Given the description of an element on the screen output the (x, y) to click on. 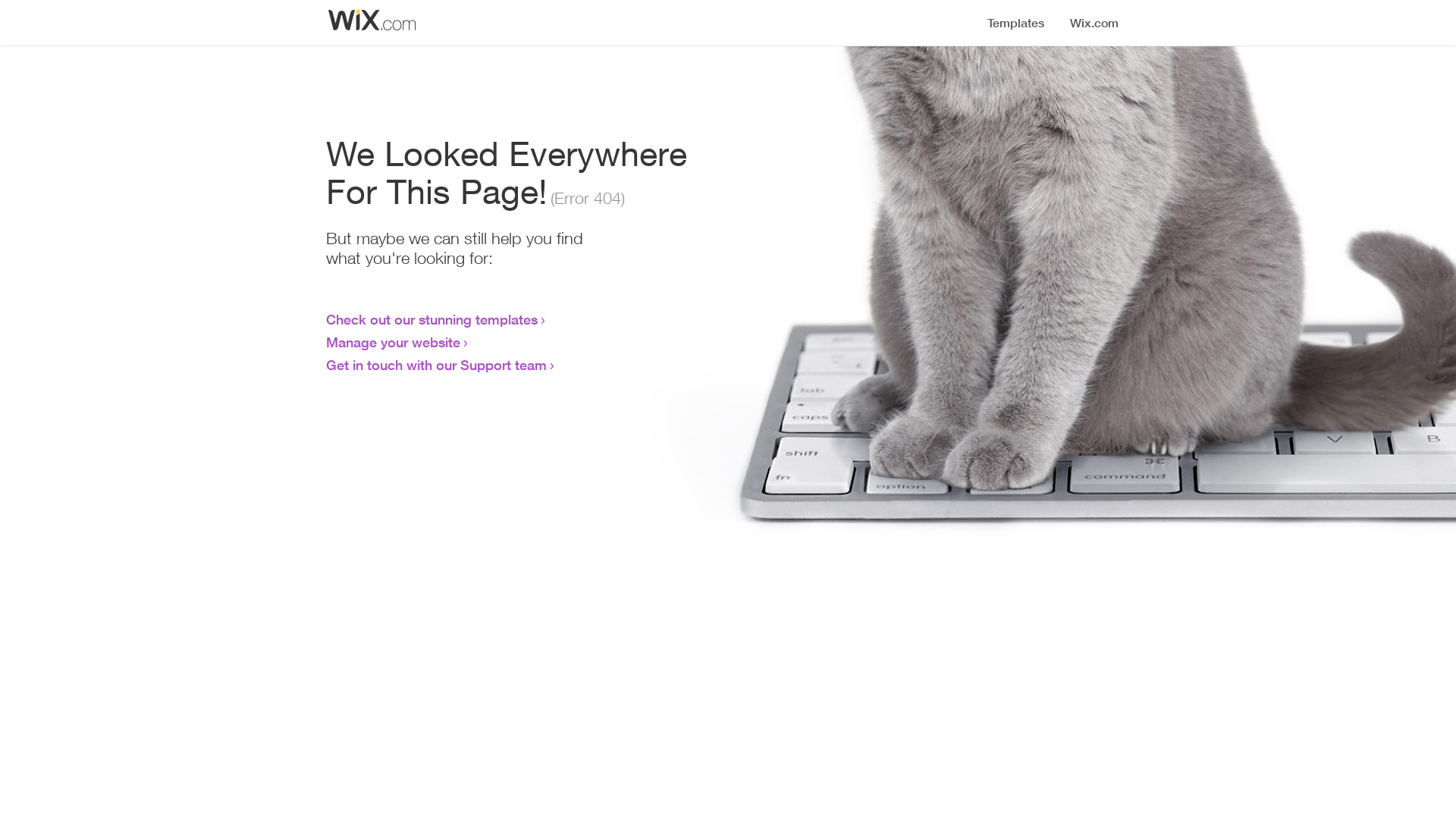
Get in touch with our Support team Element type: text (436, 364)
Check out our stunning templates Element type: text (431, 318)
Manage your website Element type: text (393, 341)
